Given the description of an element on the screen output the (x, y) to click on. 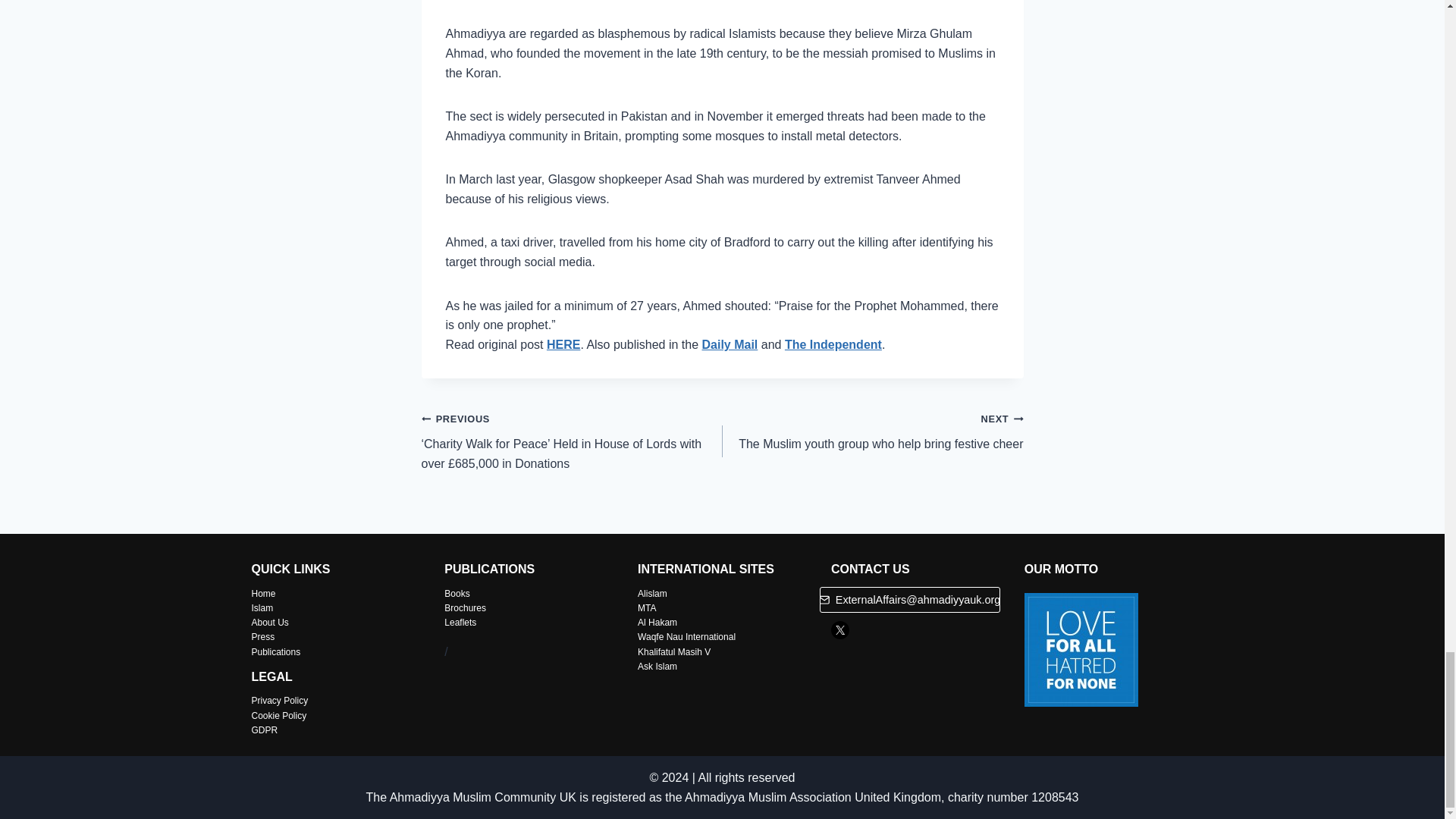
Leaflets (872, 430)
About Us (460, 622)
Islam (269, 622)
Daily Mail (262, 607)
Brochures (729, 344)
The Independent (465, 607)
Waqfe Nau International (833, 344)
Alislam (686, 636)
Cookie Policy (651, 593)
Ask Islam (279, 715)
Privacy Policy (657, 665)
Al Hakam (279, 700)
HERE (657, 622)
Books (563, 344)
